Given the description of an element on the screen output the (x, y) to click on. 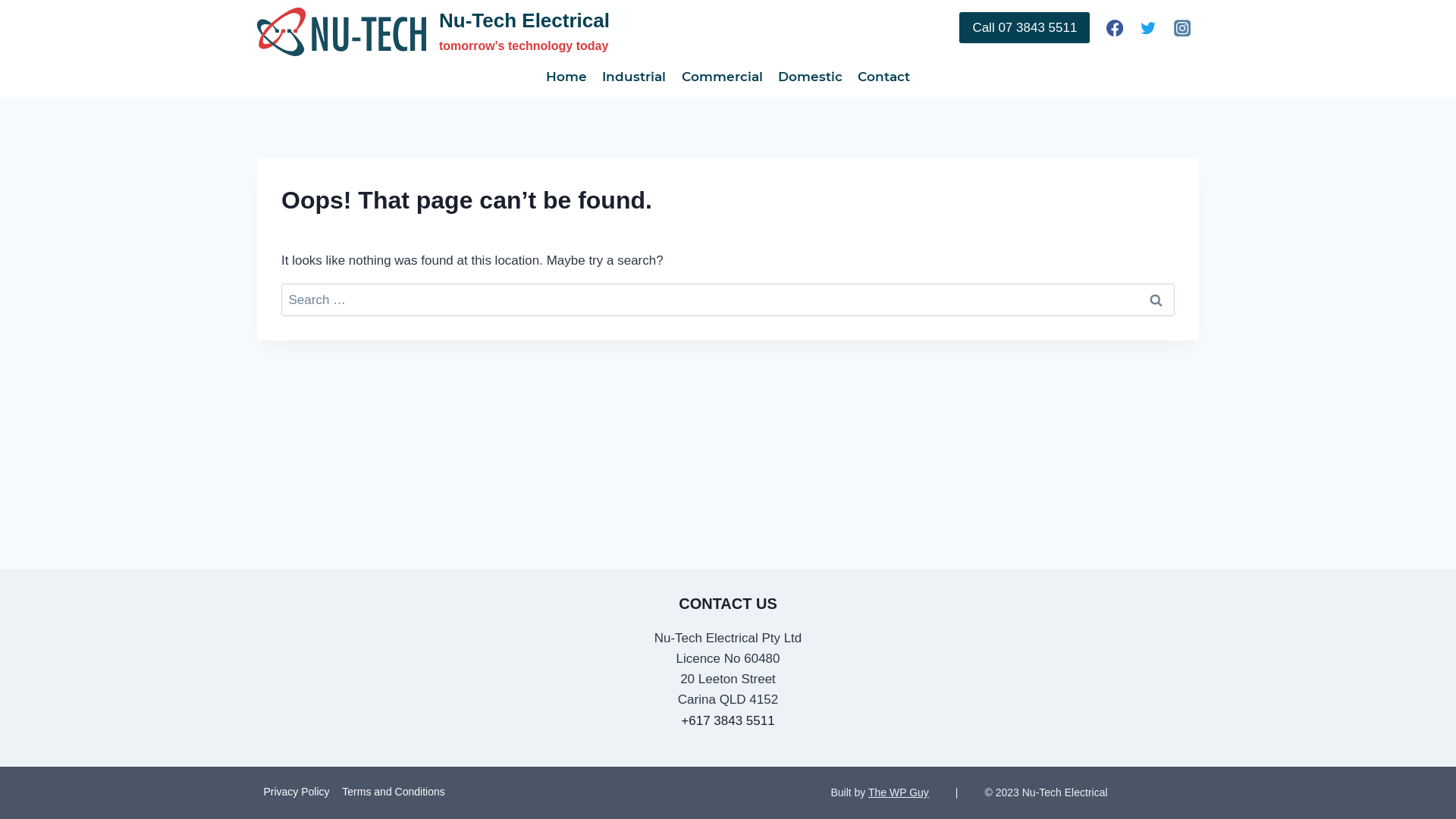
Call 07 3843 5511 Element type: text (1024, 27)
Nu-Tech Electrical
tomorrow's technology today Element type: text (433, 31)
+617 3843 5511 Element type: text (727, 720)
Privacy Policy Element type: text (296, 791)
Terms and Conditions Element type: text (393, 791)
Search Element type: text (1155, 299)
Commercial Element type: text (721, 76)
Contact Element type: text (883, 76)
Home Element type: text (566, 76)
The WP Guy Element type: text (898, 792)
Industrial Element type: text (633, 76)
Domestic Element type: text (810, 76)
